Given the description of an element on the screen output the (x, y) to click on. 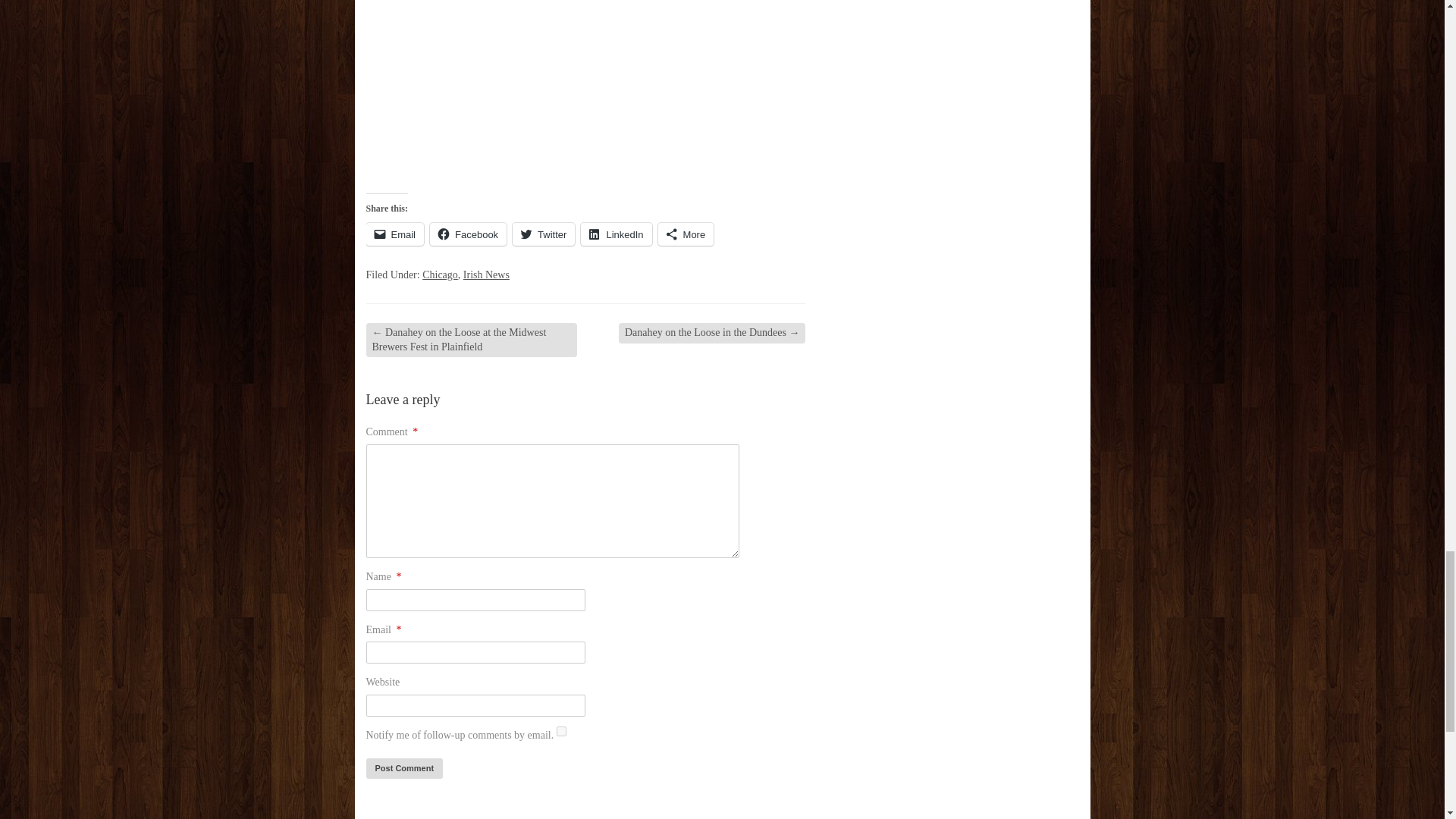
LinkedIn (615, 233)
Email (394, 233)
Click to share on LinkedIn (615, 233)
Chicago (440, 274)
Twitter (543, 233)
Post Comment (403, 768)
More (686, 233)
Post Comment (403, 768)
Click to share on Twitter (543, 233)
Facebook (467, 233)
